Given the description of an element on the screen output the (x, y) to click on. 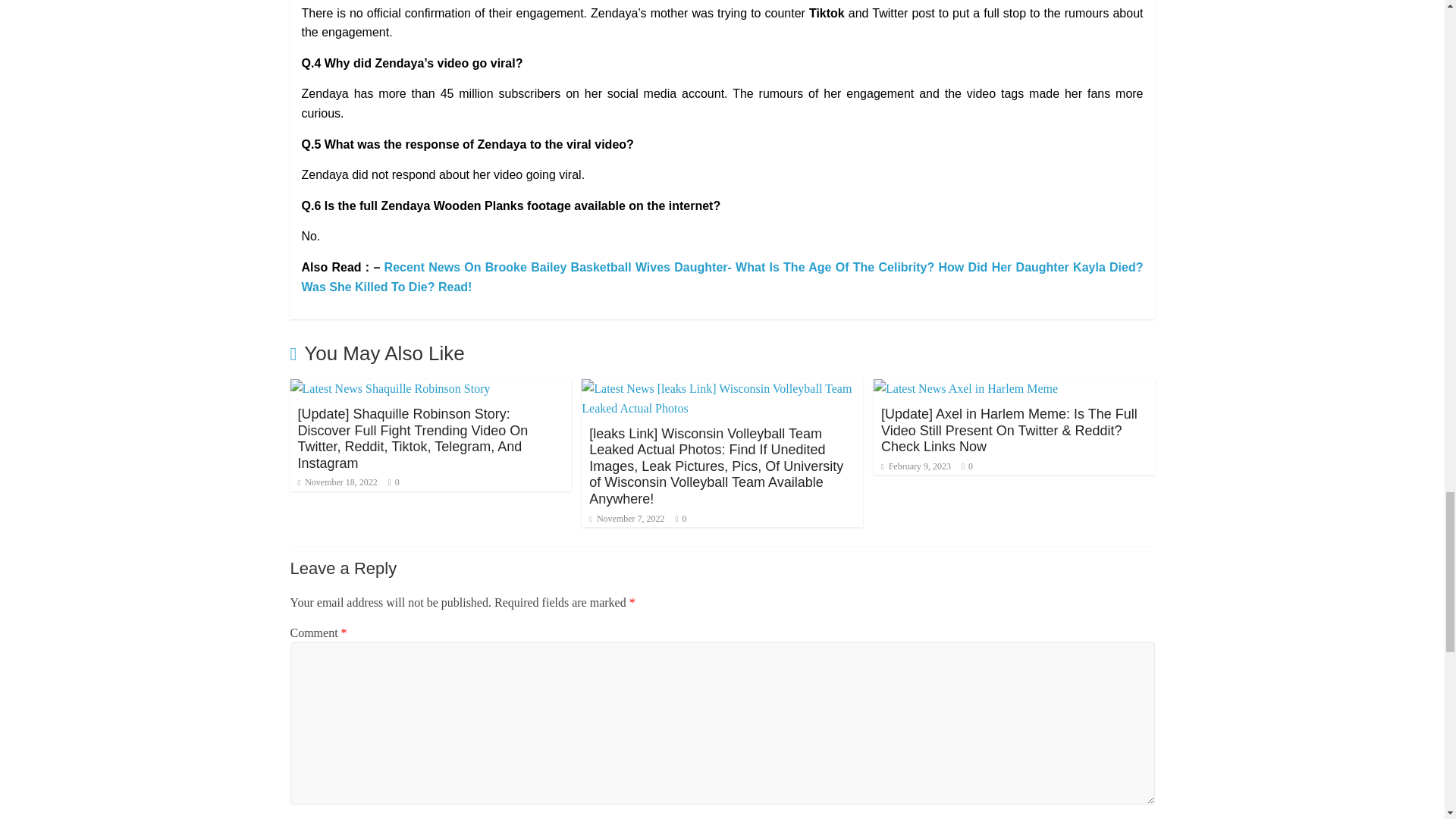
12:50 pm (337, 481)
